Given the description of an element on the screen output the (x, y) to click on. 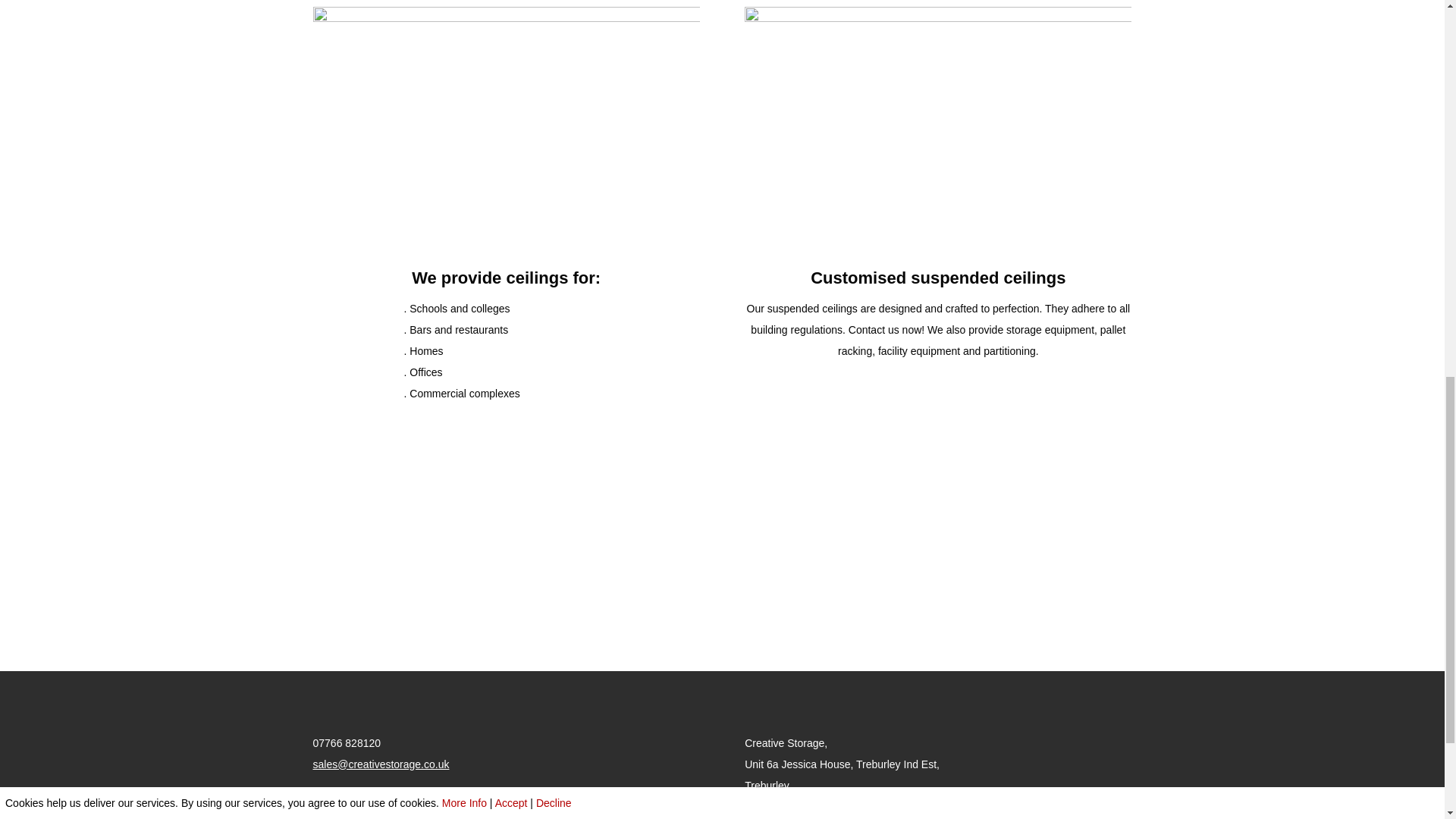
01823 673 211 (721, 564)
07766 828120 (346, 743)
Follow on Facebook (324, 807)
